Given the description of an element on the screen output the (x, y) to click on. 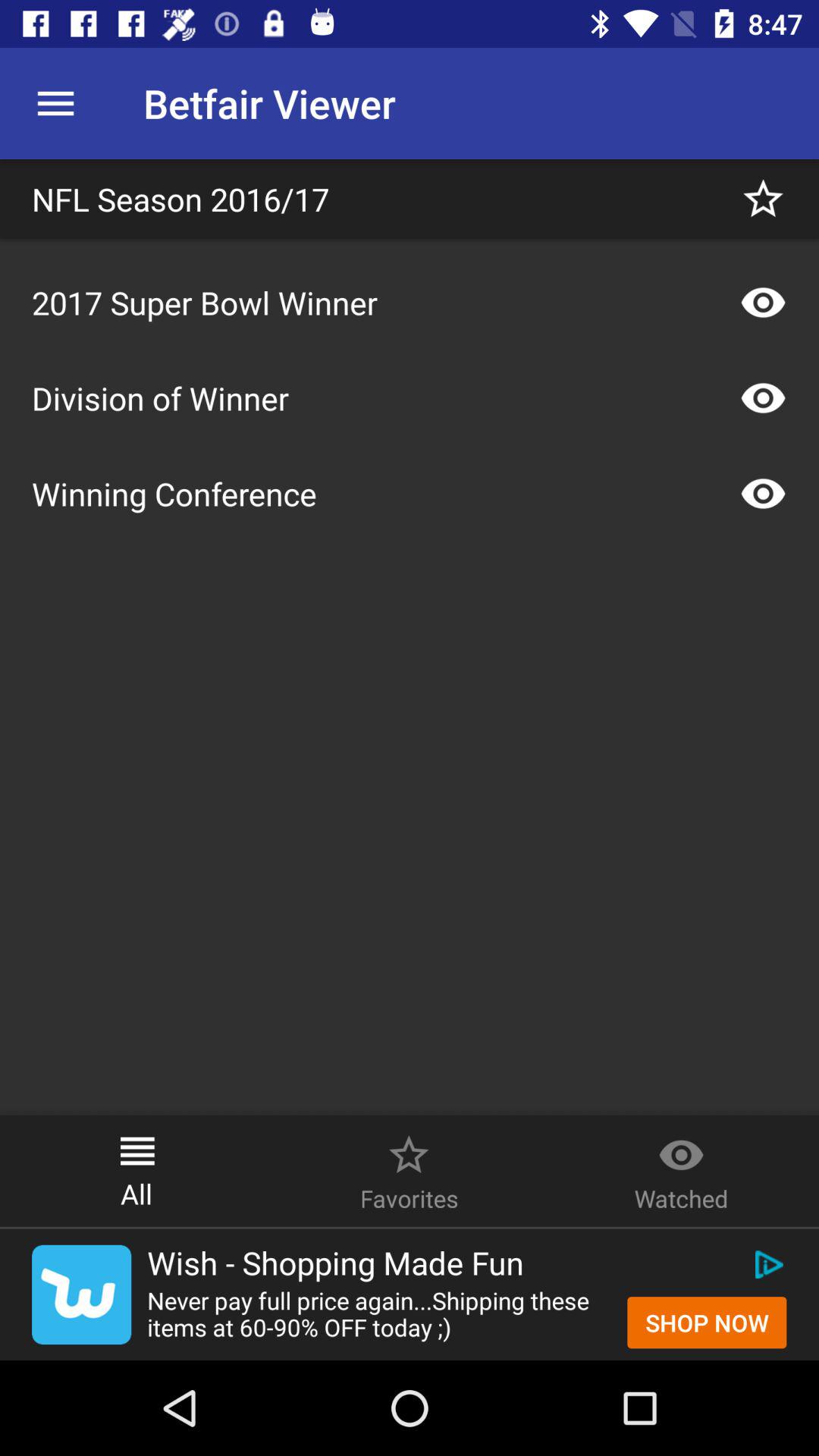
open item to the left of the betfair viewer item (55, 103)
